Given the description of an element on the screen output the (x, y) to click on. 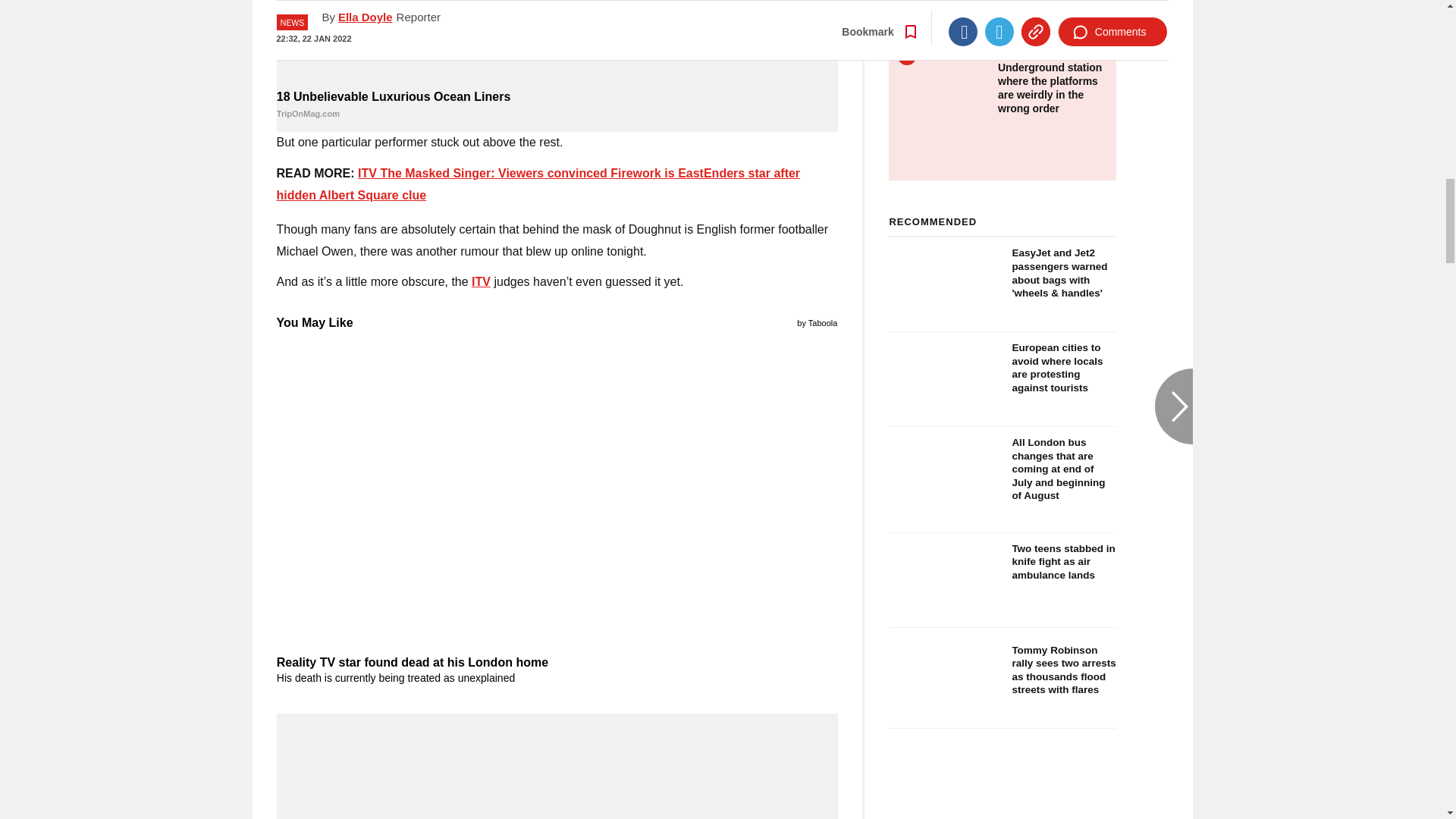
18 Unbelievable Luxurious Ocean Liners (557, 105)
18 Unbelievable Luxurious Ocean Liners (557, 42)
